Given the description of an element on the screen output the (x, y) to click on. 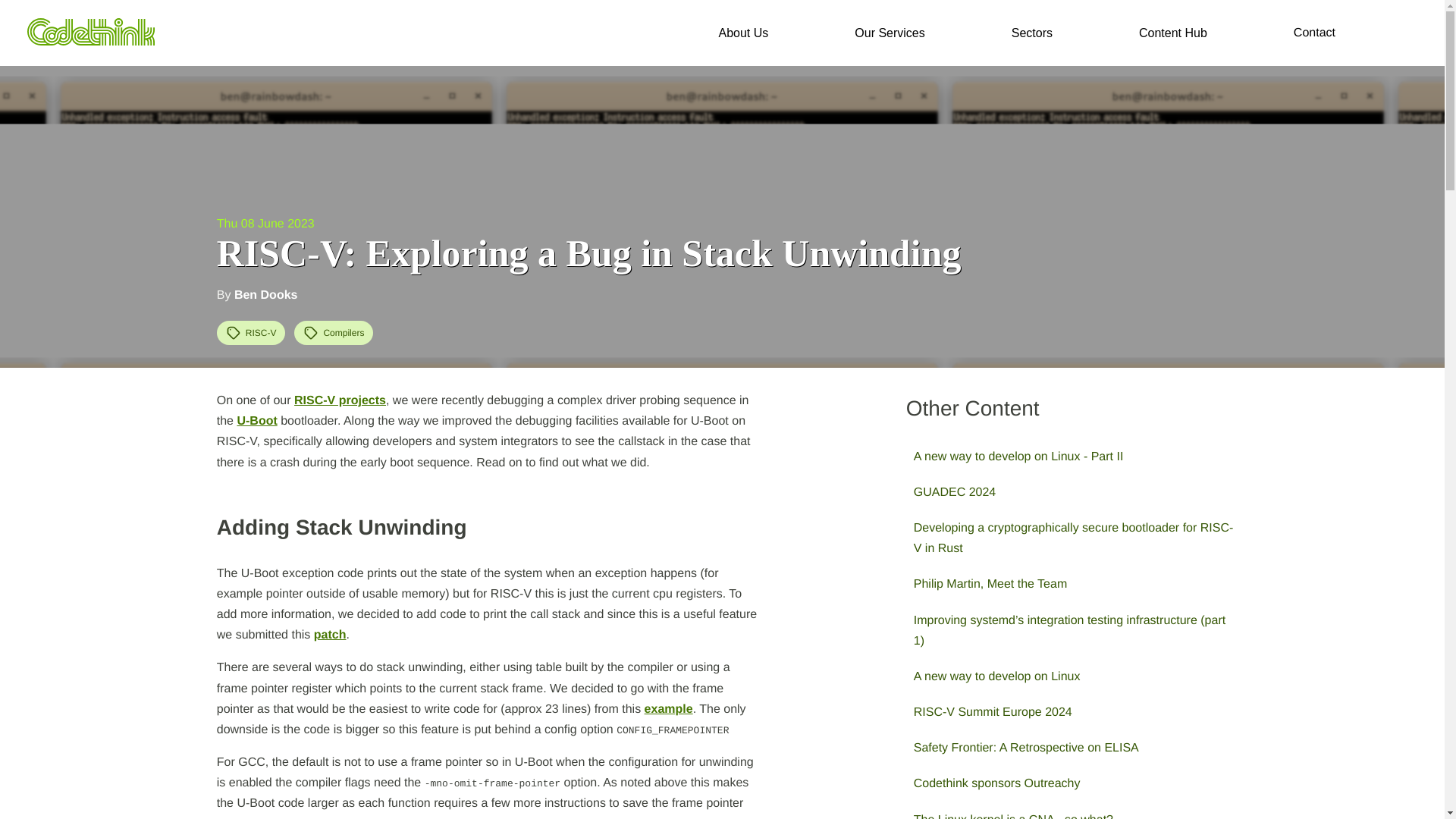
Content Hub (1172, 33)
Permalink to A new way to develop on Linux (1074, 676)
Permalink to GUADEC 2024 (1074, 492)
Permalink to The Linux kernel is a CNA - so what? (1074, 810)
Our Services (889, 33)
Permalink to Codethink sponsors Outreachy (1074, 783)
Sectors (1032, 33)
Permalink to Safety Frontier: A Retrospective on ELISA (1074, 747)
Permalink to A new way to develop on Linux - Part II (1074, 456)
